Given the description of an element on the screen output the (x, y) to click on. 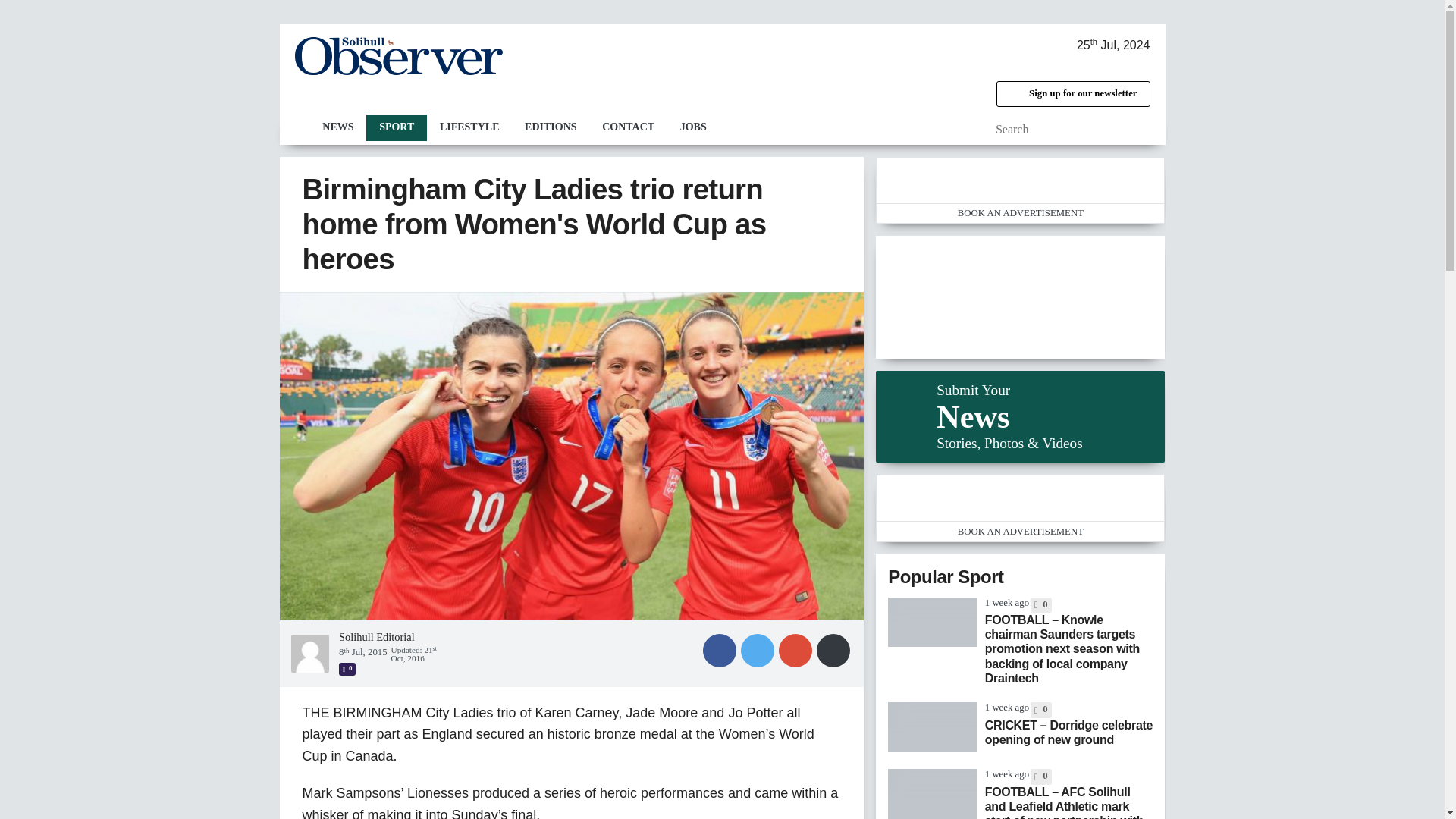
SPORT (396, 127)
The Solihull Observer (398, 55)
  Sign up for our newsletter (1072, 94)
LIFESTYLE (469, 127)
CONTACT (627, 127)
JOBS (692, 127)
NEWS (337, 127)
EDITIONS (550, 127)
